Given the description of an element on the screen output the (x, y) to click on. 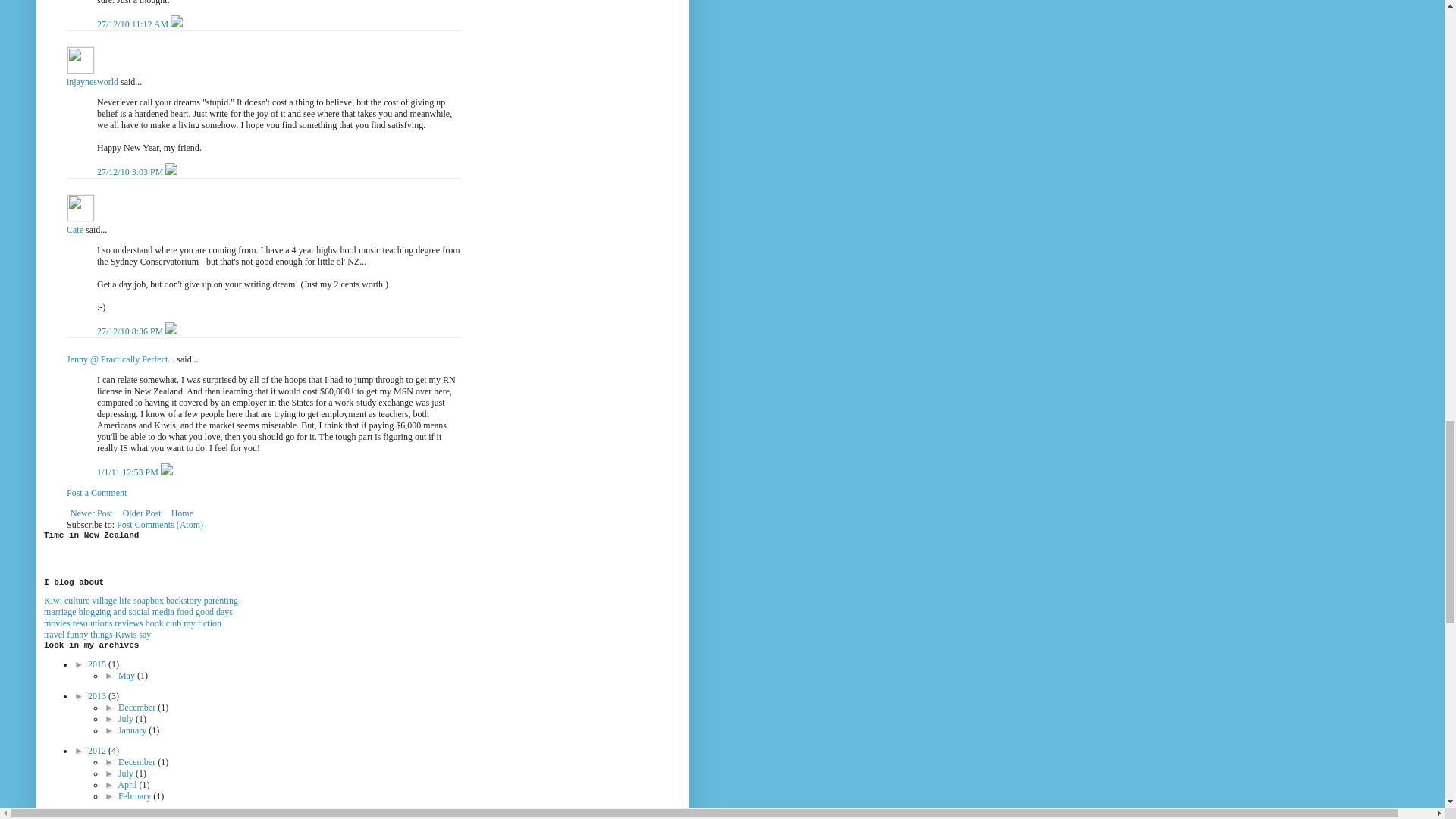
comment permalink (133, 23)
injaynesworld (91, 81)
Cate (74, 229)
Delete Comment (176, 23)
